Given the description of an element on the screen output the (x, y) to click on. 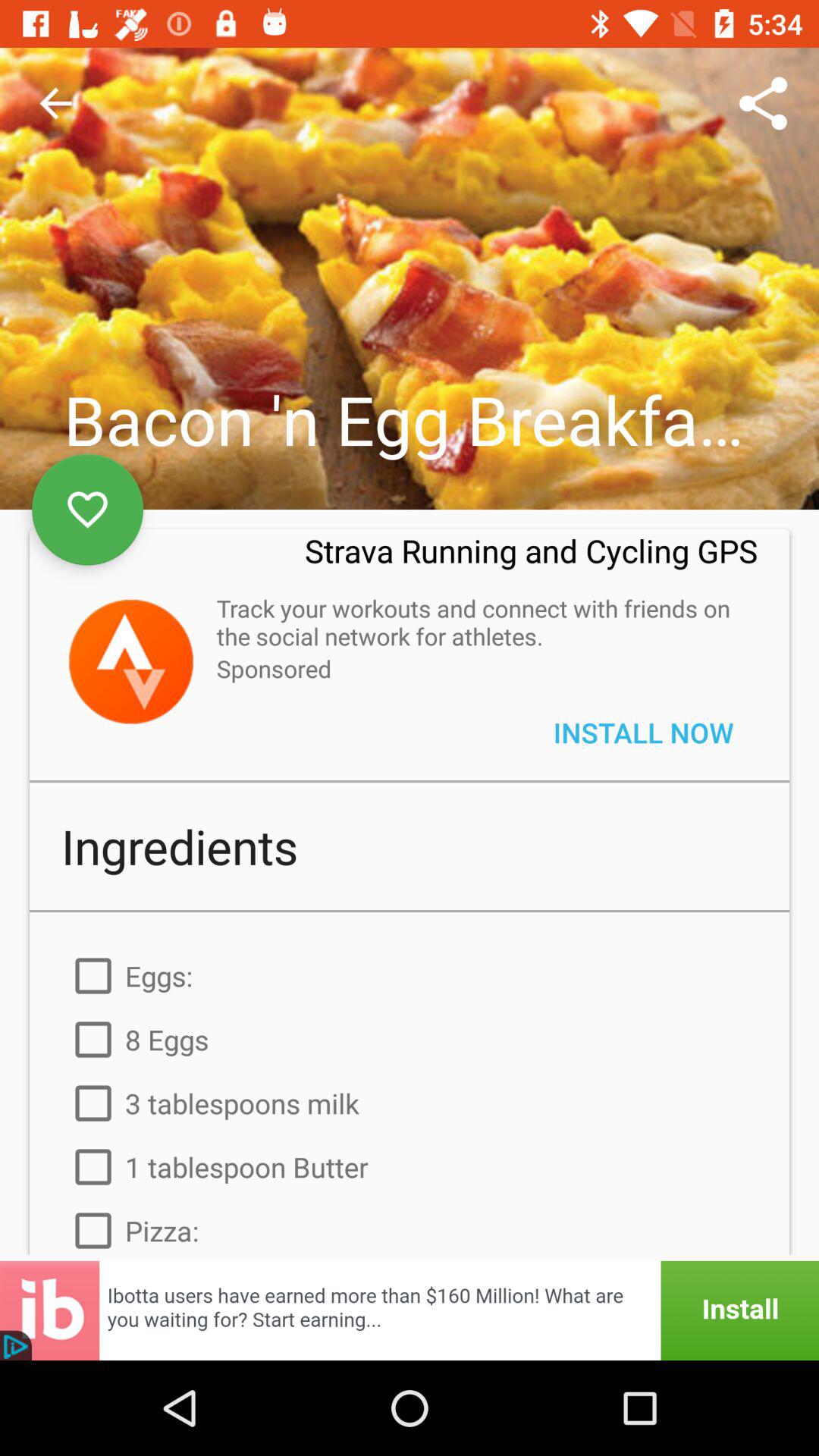
connect with friends (130, 661)
